Given the description of an element on the screen output the (x, y) to click on. 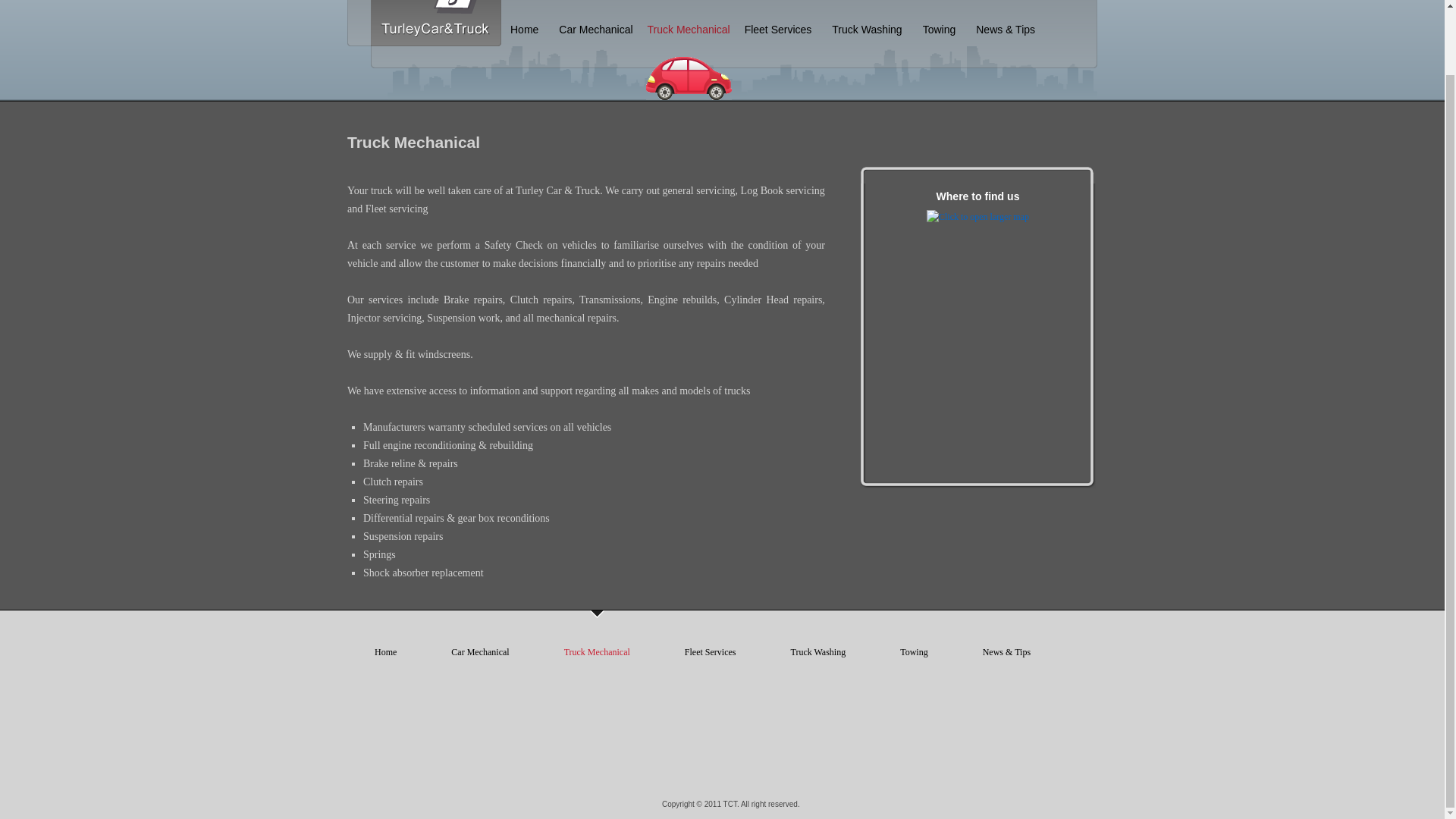
Truck Washing (866, 29)
turleys.com.au (435, 37)
Car Mechanical (595, 29)
Mechanical Repairs Ipswich (595, 29)
Fleet Services (777, 29)
Truck Washing (818, 652)
Truck Mechanical (596, 652)
Towing (914, 652)
Truck Mechanical (689, 57)
Truck Washing (818, 652)
